Given the description of an element on the screen output the (x, y) to click on. 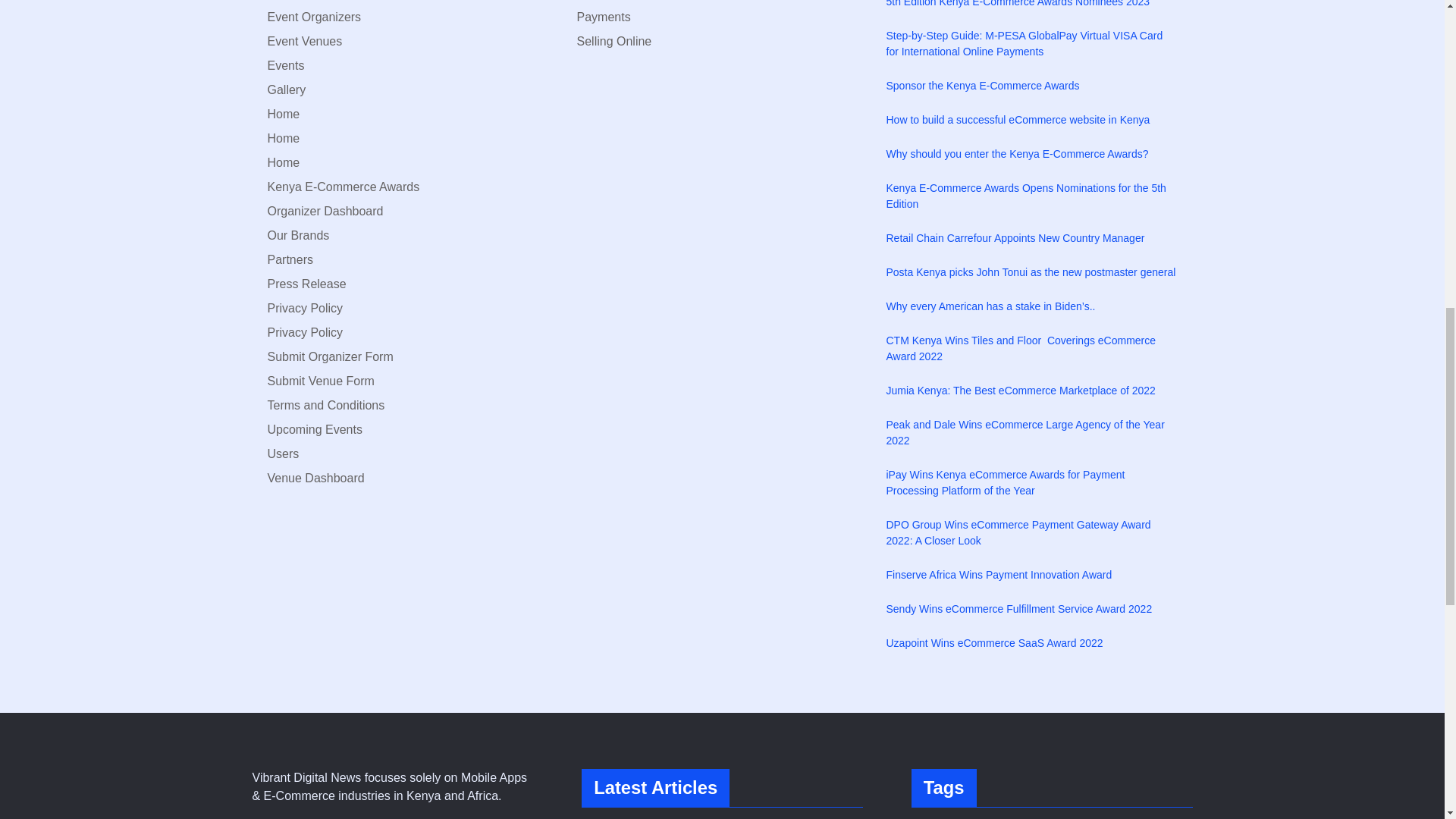
Our Brands (297, 235)
Partners (289, 259)
Home (282, 162)
Home (282, 137)
Home (282, 113)
Organizer Dashboard (324, 210)
Privacy Policy (304, 332)
Kenya E-Commerce Awards (342, 186)
Event Venues (304, 41)
Privacy Policy (304, 308)
